Given the description of an element on the screen output the (x, y) to click on. 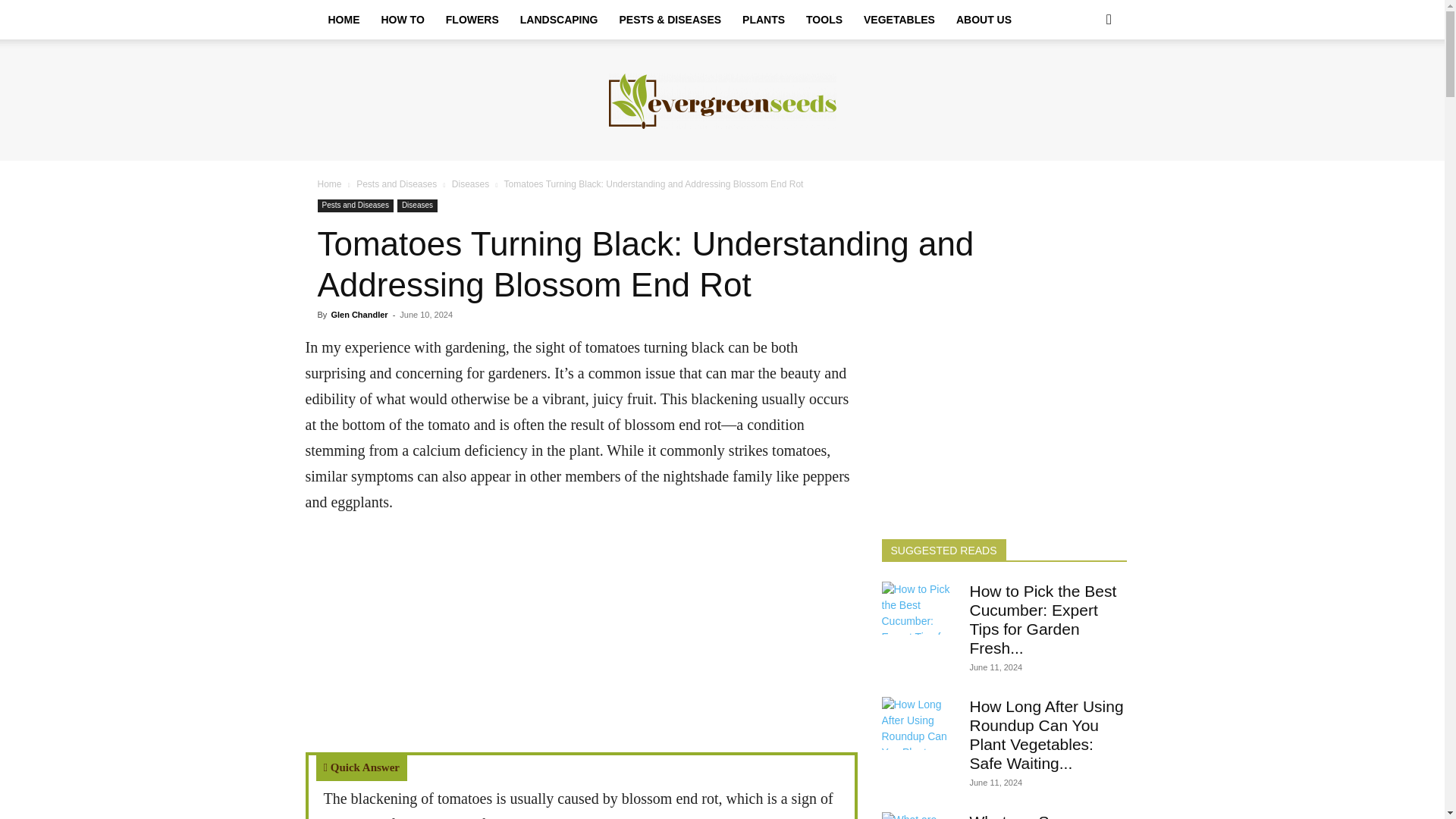
View all posts in Diseases (470, 184)
View all posts in Pests and Diseases (396, 184)
